Given the description of an element on the screen output the (x, y) to click on. 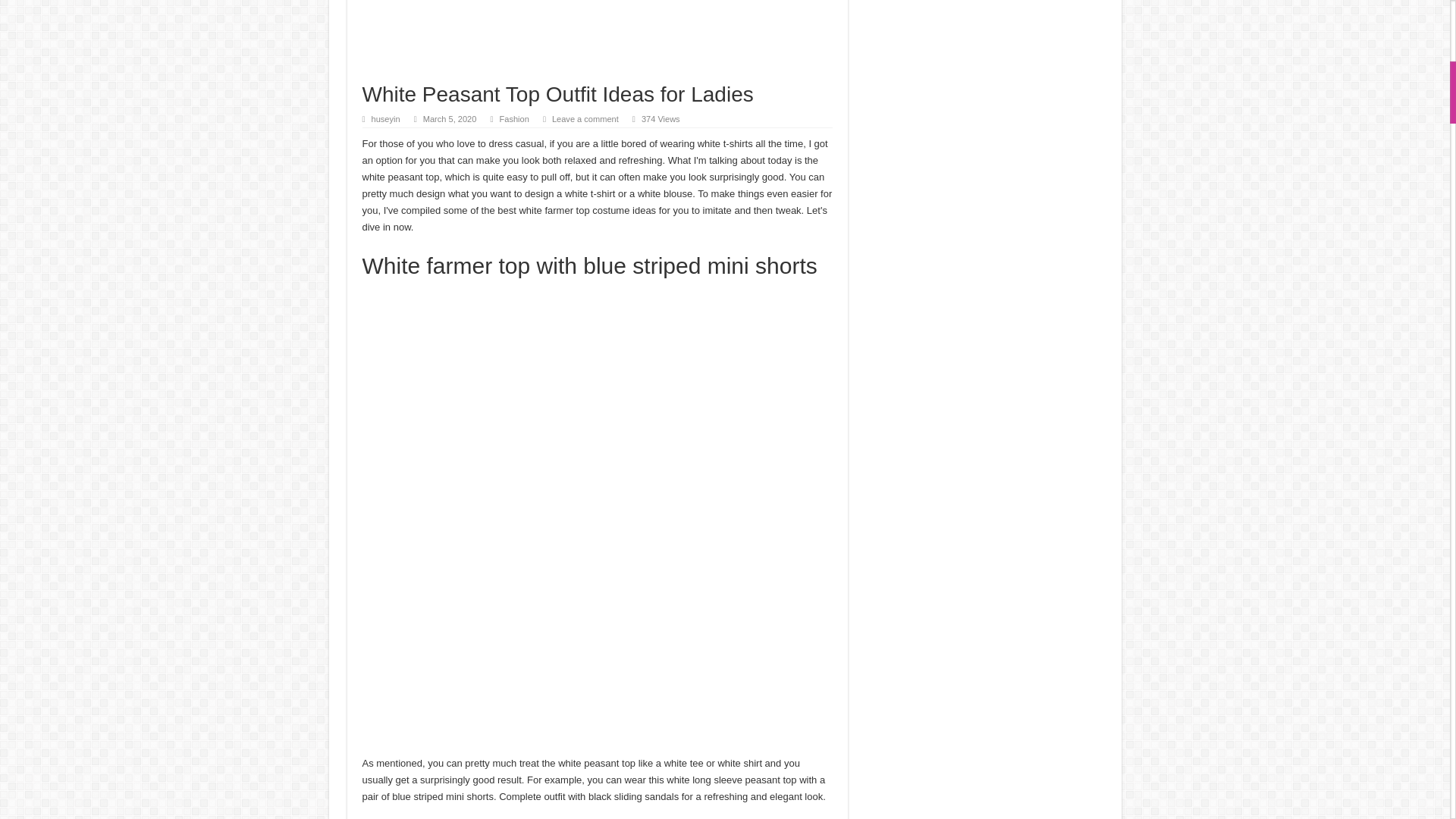
huseyin (385, 118)
Advertisement (597, 41)
Fashion (513, 118)
Leave a comment (584, 118)
